Given the description of an element on the screen output the (x, y) to click on. 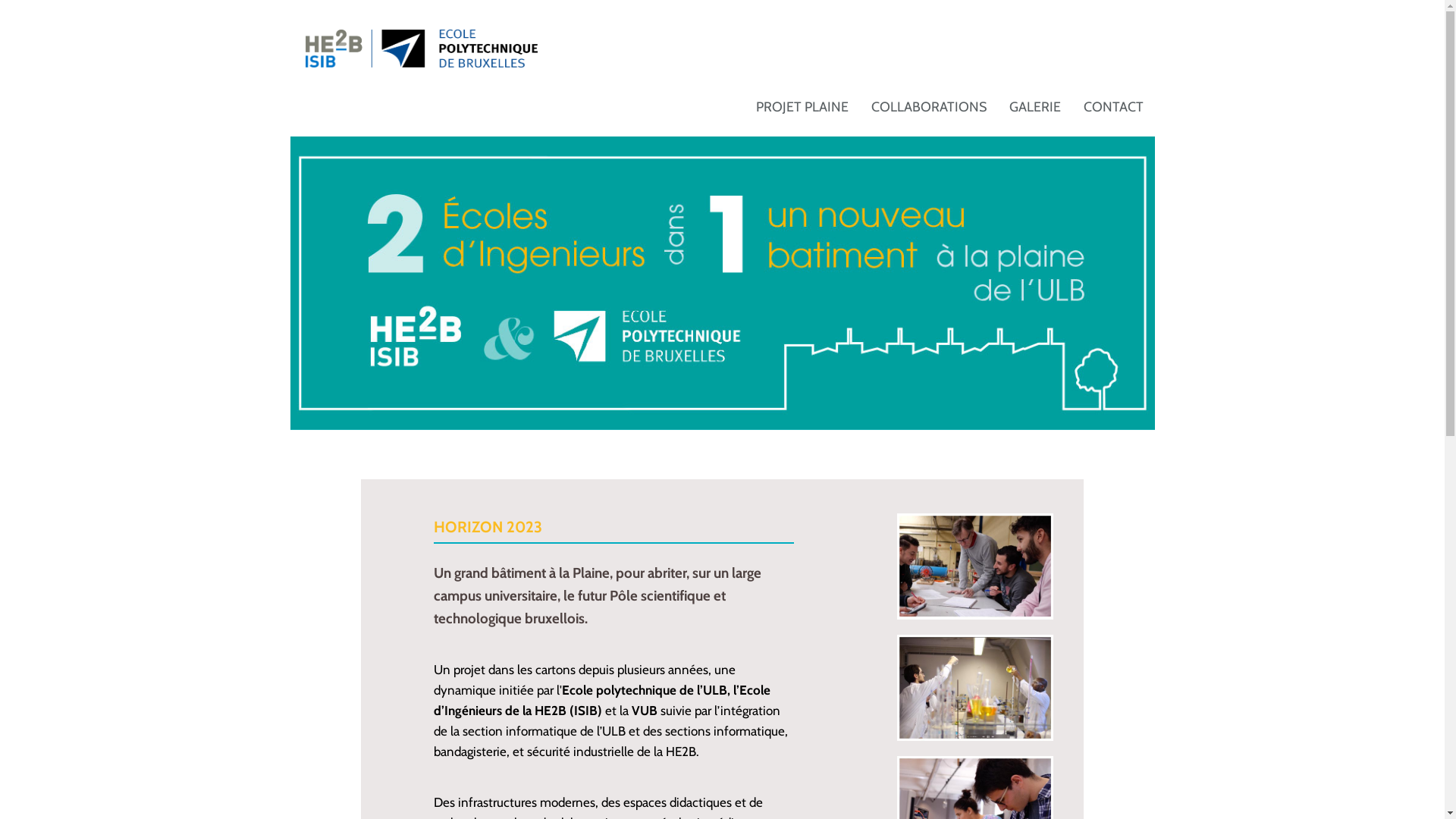
PROJET PLAINE Element type: text (801, 106)
GALERIE Element type: text (1034, 106)
CONTACT Element type: text (1113, 106)
Aller au contenu principal Element type: text (0, 0)
Accueil Element type: hover (420, 46)
COLLABORATIONS Element type: text (928, 106)
